Given the description of an element on the screen output the (x, y) to click on. 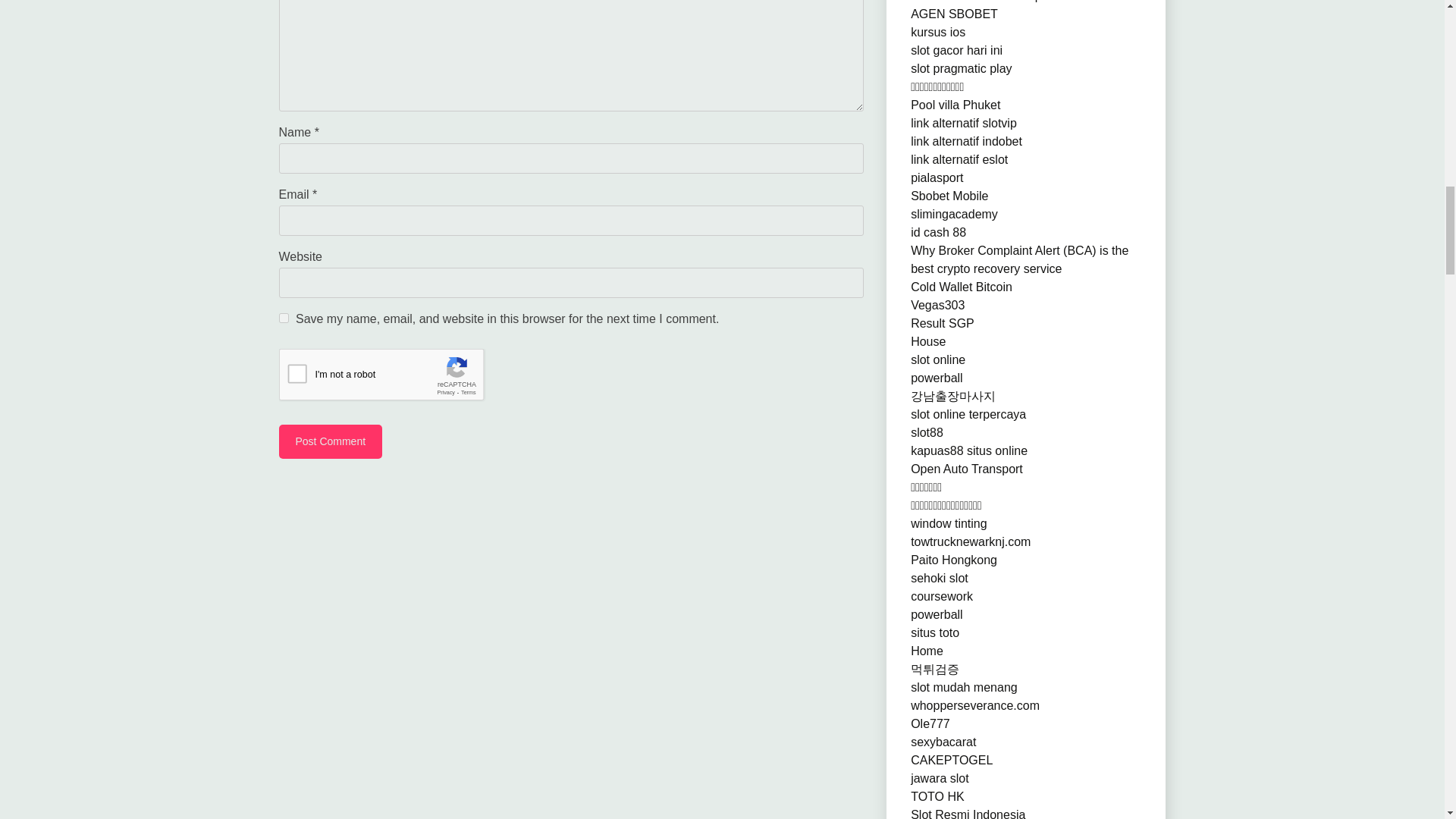
reCAPTCHA (394, 377)
yes (283, 317)
Post Comment (330, 441)
Post Comment (330, 441)
